Given the description of an element on the screen output the (x, y) to click on. 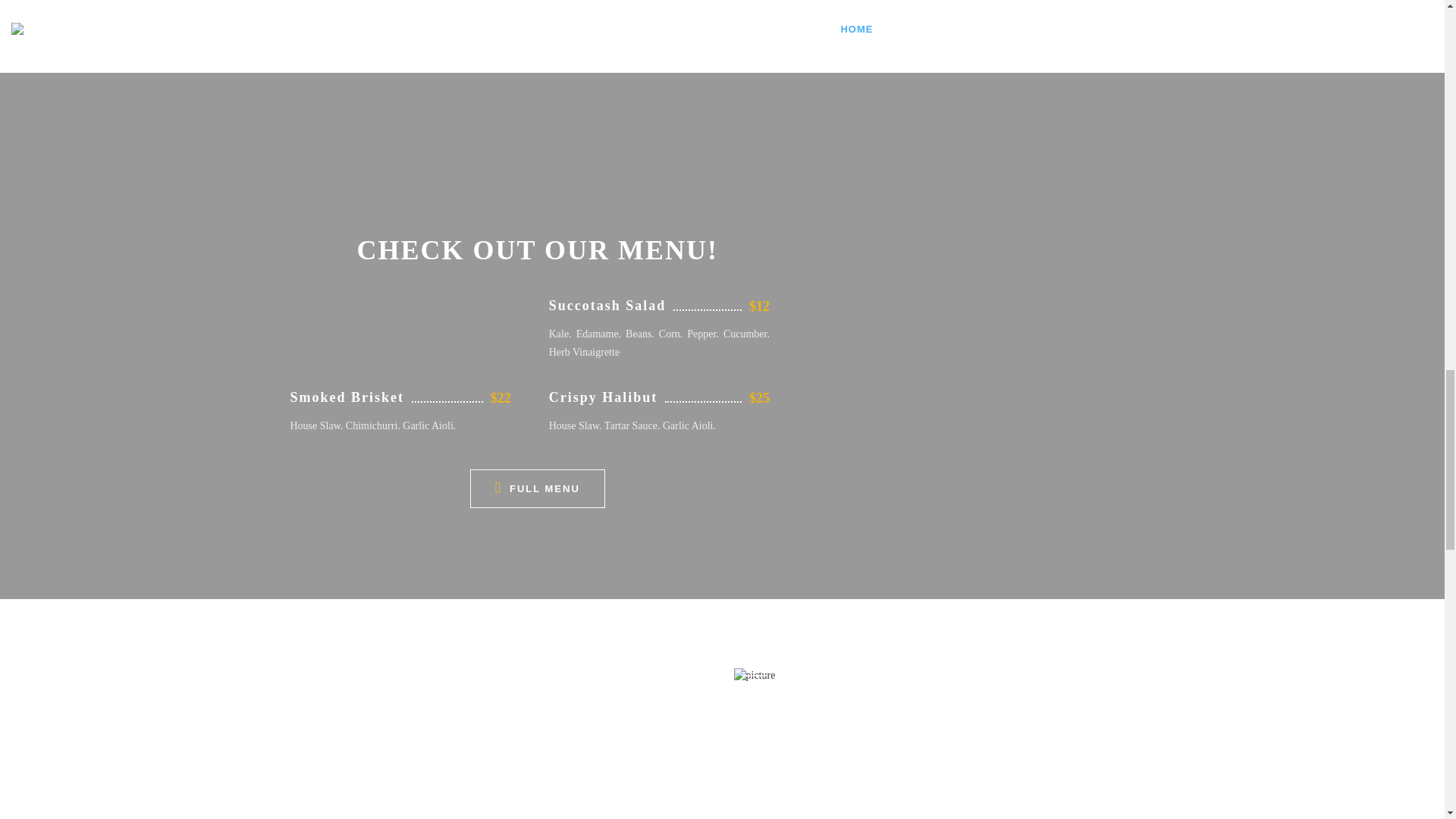
FULL MENU (537, 488)
